Given the description of an element on the screen output the (x, y) to click on. 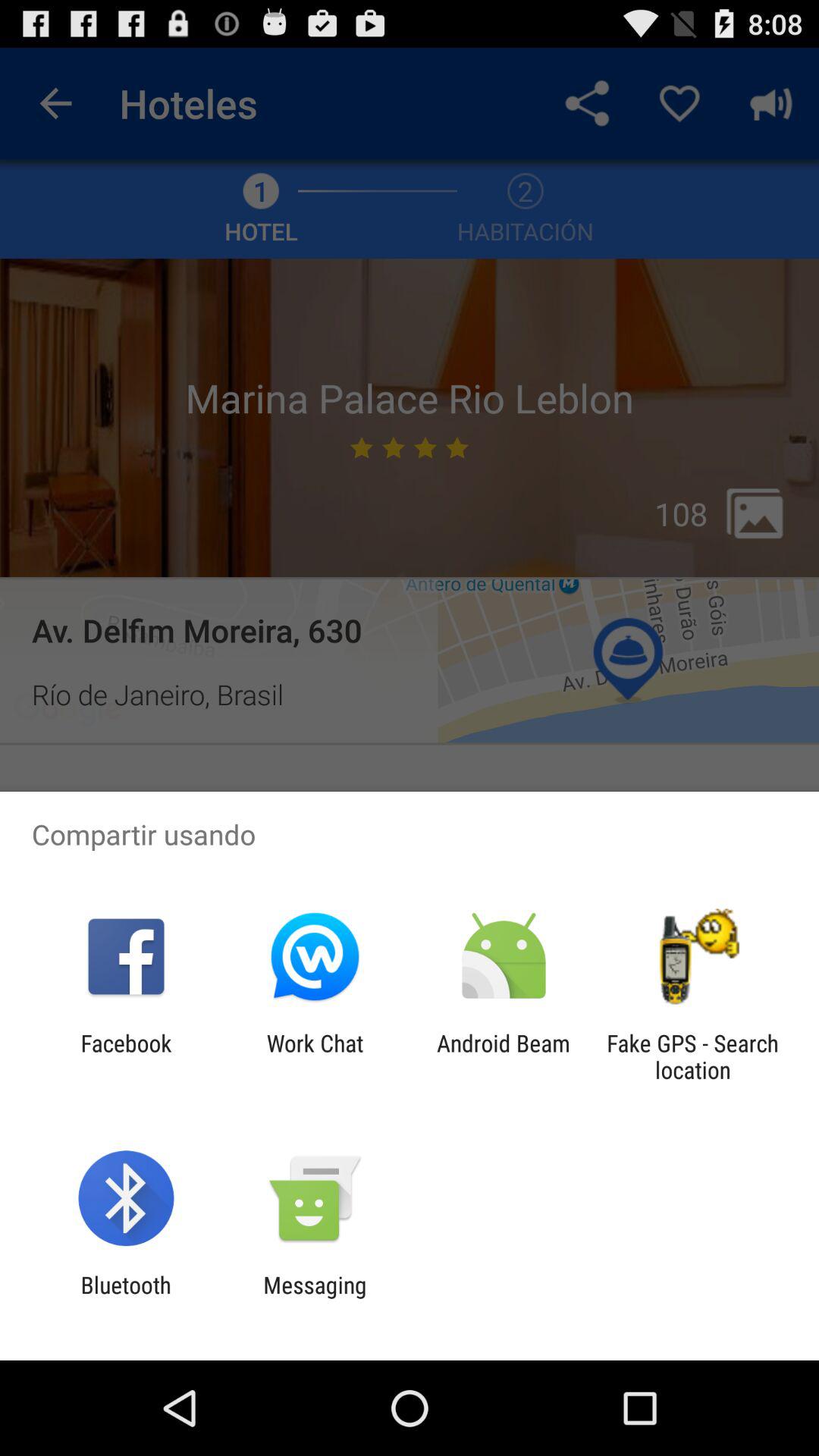
swipe to android beam item (503, 1056)
